Given the description of an element on the screen output the (x, y) to click on. 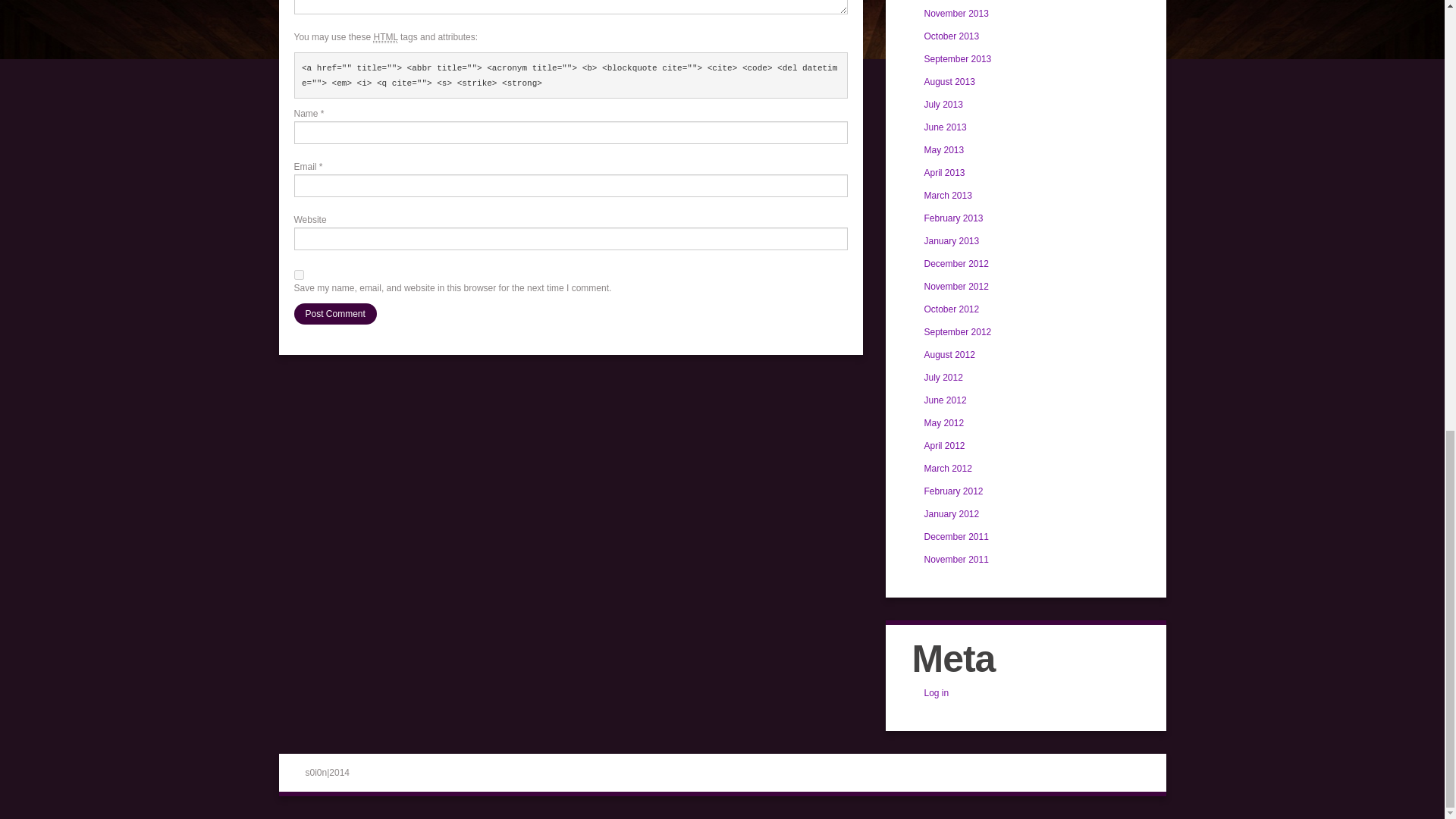
HyperText Markup Language (384, 37)
yes (299, 275)
Post Comment (335, 313)
November 2013 (955, 13)
Post Comment (335, 313)
